Given the description of an element on the screen output the (x, y) to click on. 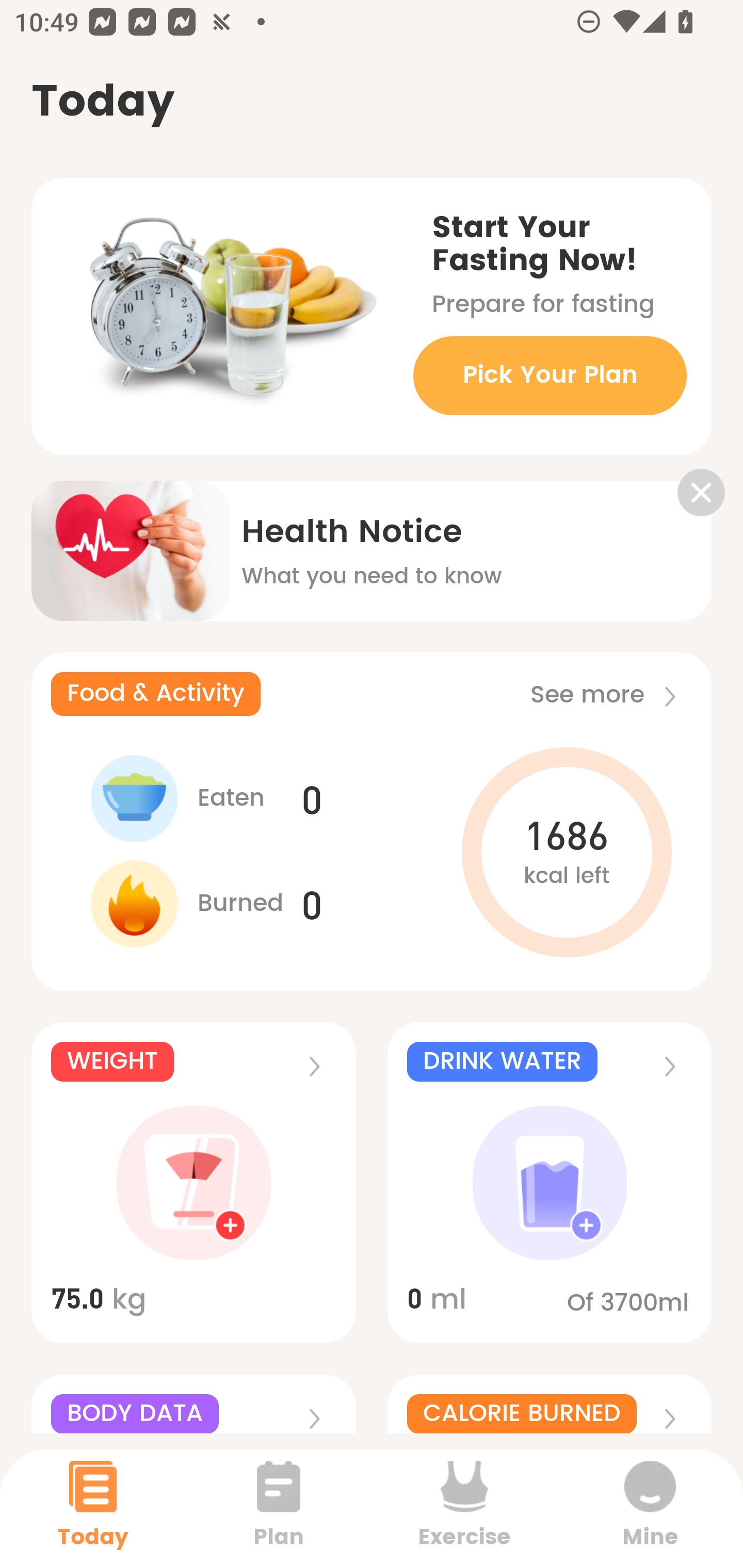
Pick Your Plan (549, 375)
Health Notice What you need to know (371, 537)
WEIGHT 75.0 kg (193, 1182)
DRINK WATER 0 ml Of 3700ml (549, 1182)
BODY DATA (193, 1404)
CALORIE BURNED (549, 1404)
Plan (278, 1508)
Exercise (464, 1508)
Mine (650, 1508)
